Given the description of an element on the screen output the (x, y) to click on. 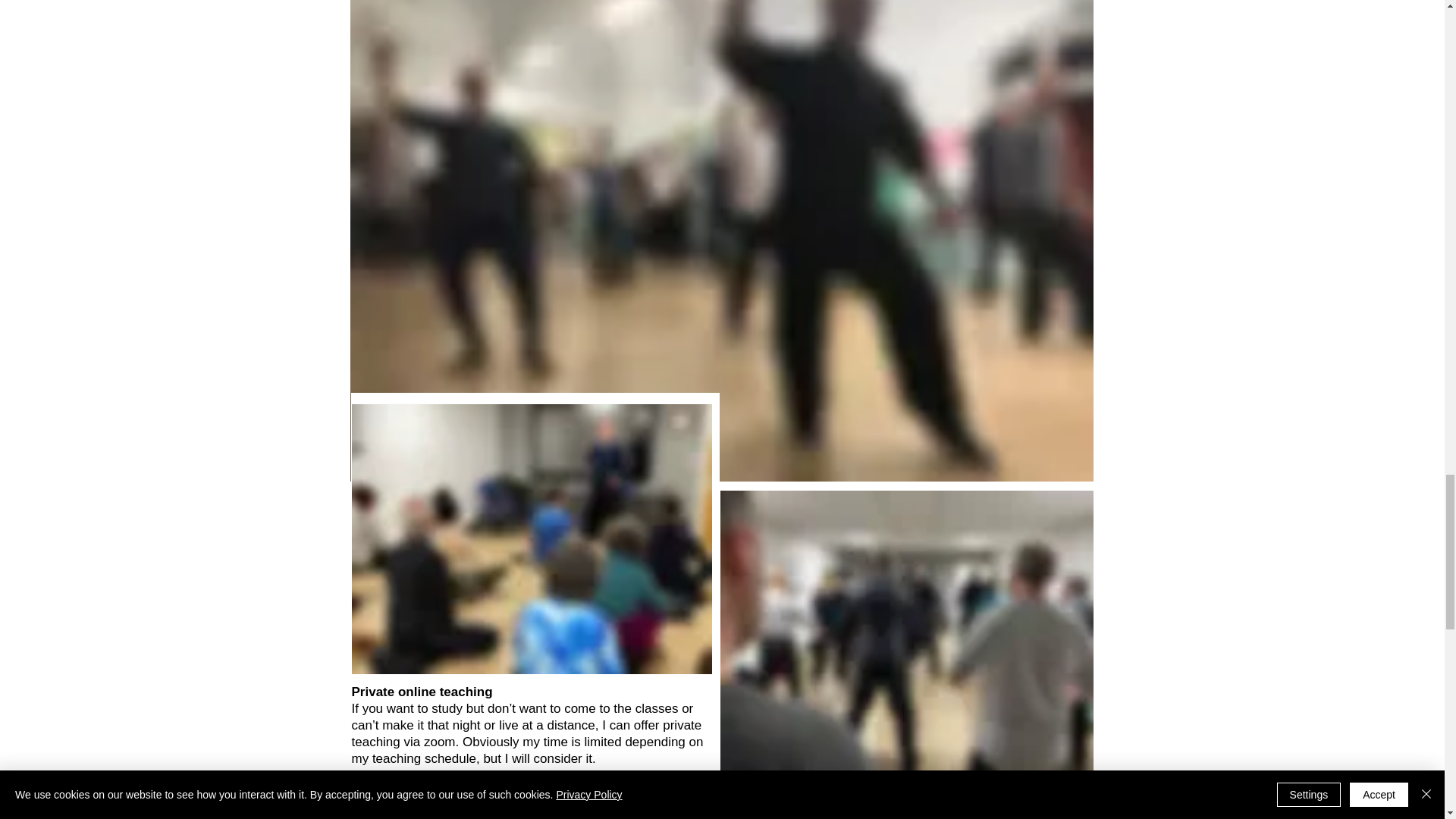
nei gong group 1.jpg (906, 630)
nei gong group 2.jpg (531, 539)
